Given the description of an element on the screen output the (x, y) to click on. 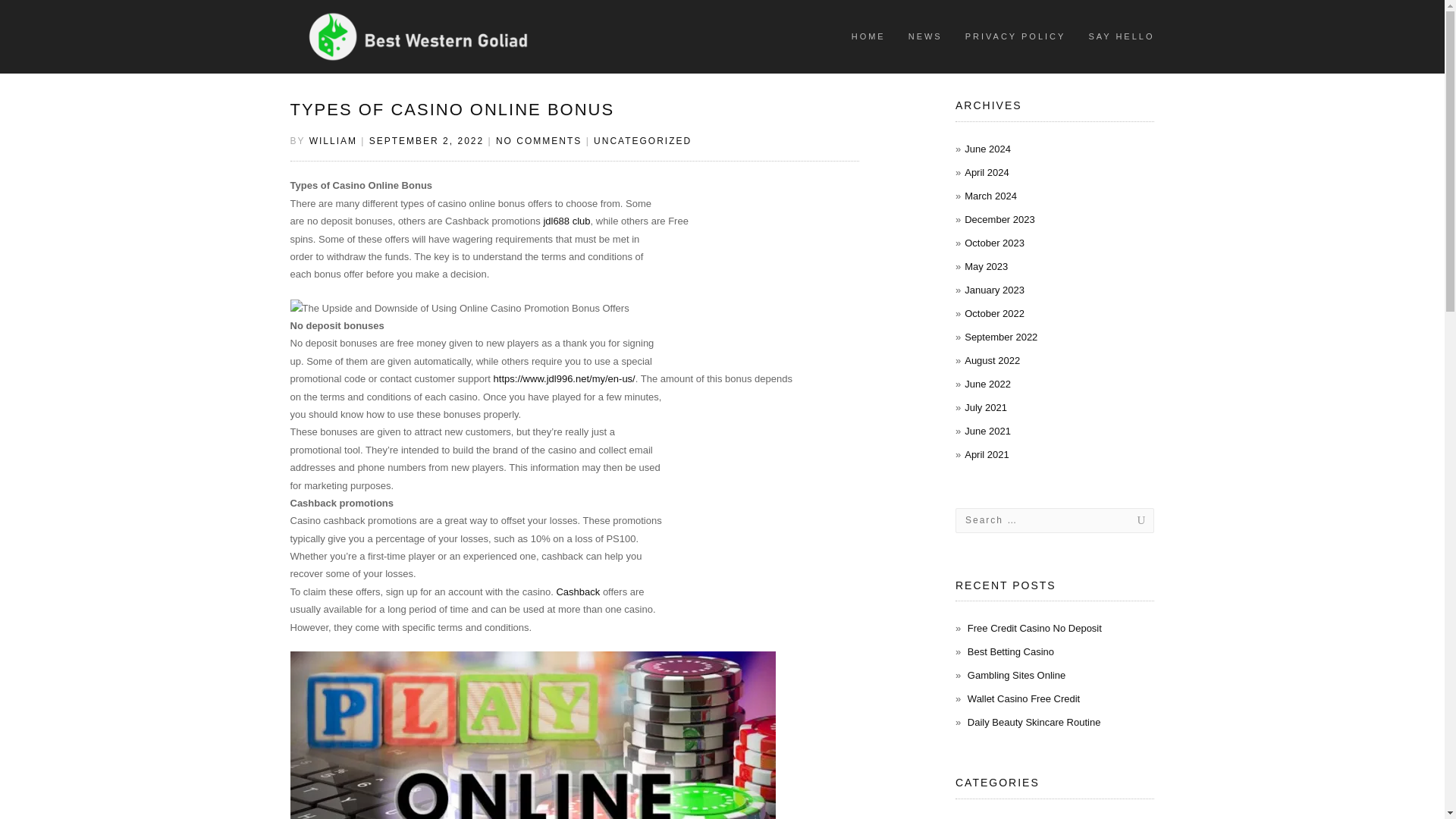
Best Betting Casino (1011, 651)
PRIVACY POLICY (1015, 36)
October 2022 (994, 313)
View all posts in Uncategorized (642, 140)
HOME (868, 36)
Search (1125, 520)
April 2024 (986, 172)
August 2022 (991, 360)
Wallet Casino Free Credit (1024, 698)
NO COMMENTS (538, 140)
